Given the description of an element on the screen output the (x, y) to click on. 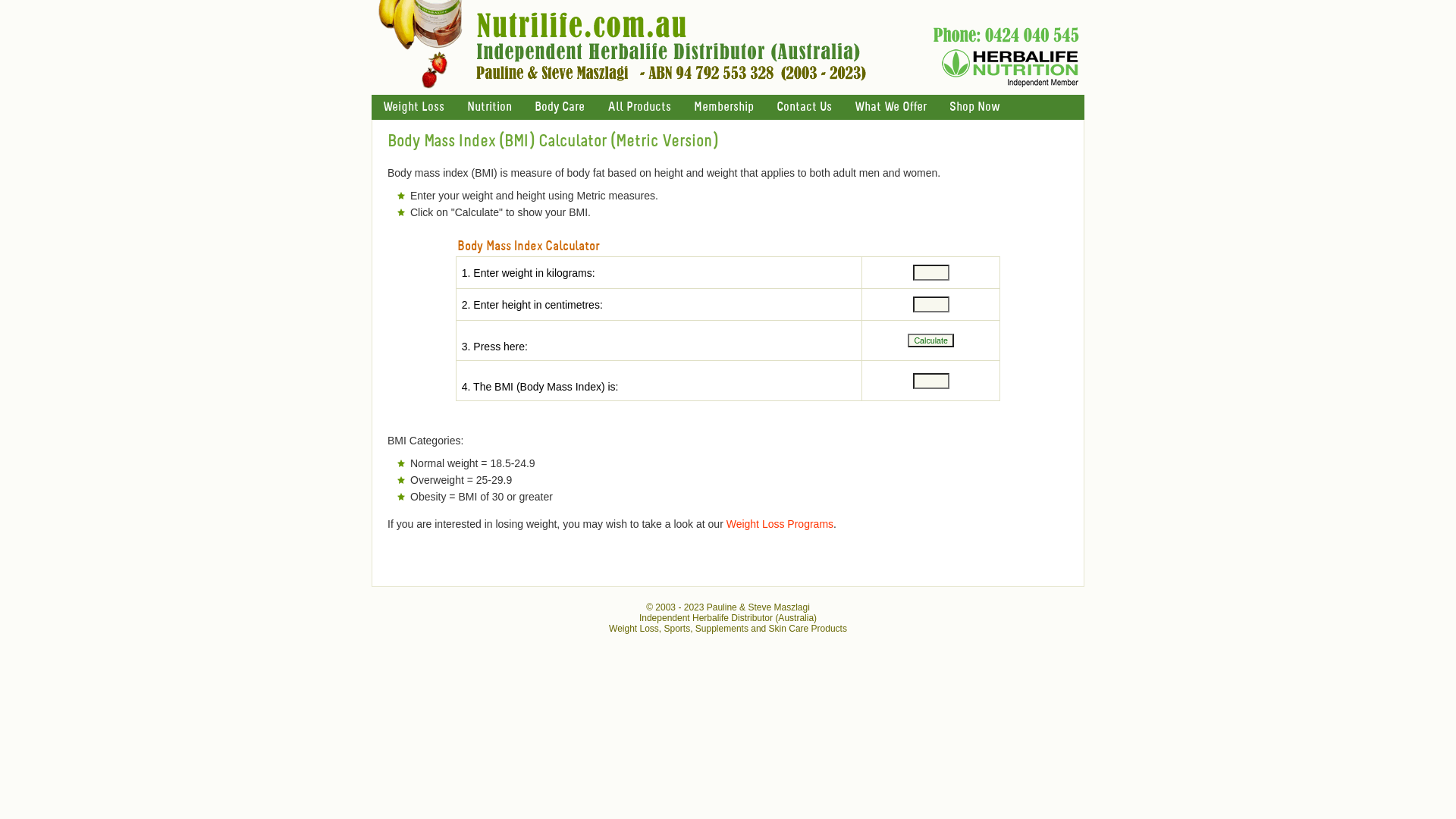
Membership Element type: text (723, 106)
Shop Now Element type: text (974, 106)
Contact Us Element type: text (804, 106)
What We Offer Element type: text (890, 106)
Nutrition Element type: text (489, 106)
All Products Element type: text (639, 106)
Body Care Element type: text (559, 106)
Weight Loss Element type: text (413, 106)
Weight Loss Programs Element type: text (779, 523)
Calculate Element type: text (930, 340)
